Given the description of an element on the screen output the (x, y) to click on. 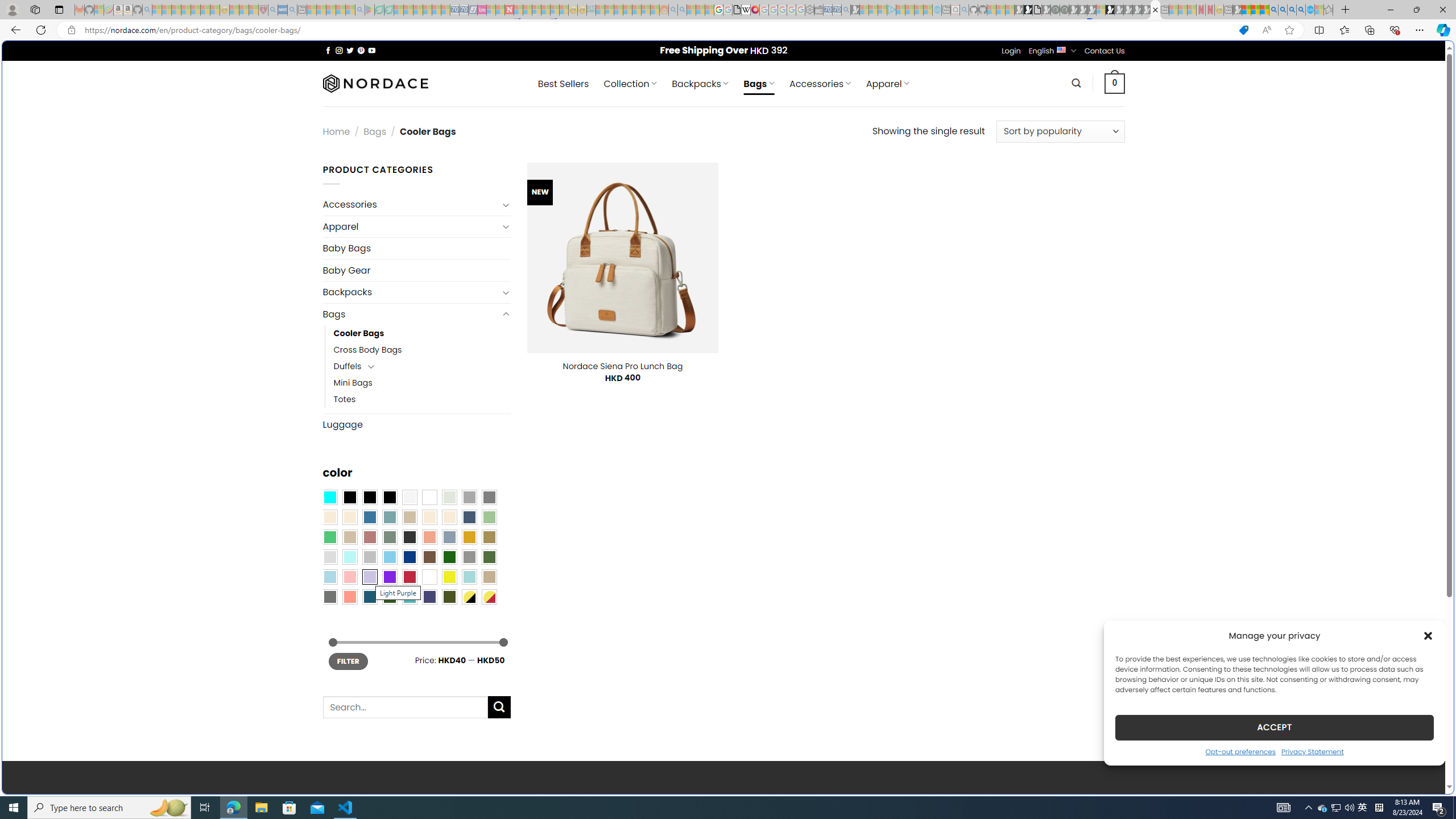
Luggage (416, 424)
Tabs you've opened (885, 151)
Baby Bags (416, 248)
Follow on Pinterest (360, 49)
Opt-out preferences (1240, 750)
Target page - Wikipedia (745, 9)
